Given the description of an element on the screen output the (x, y) to click on. 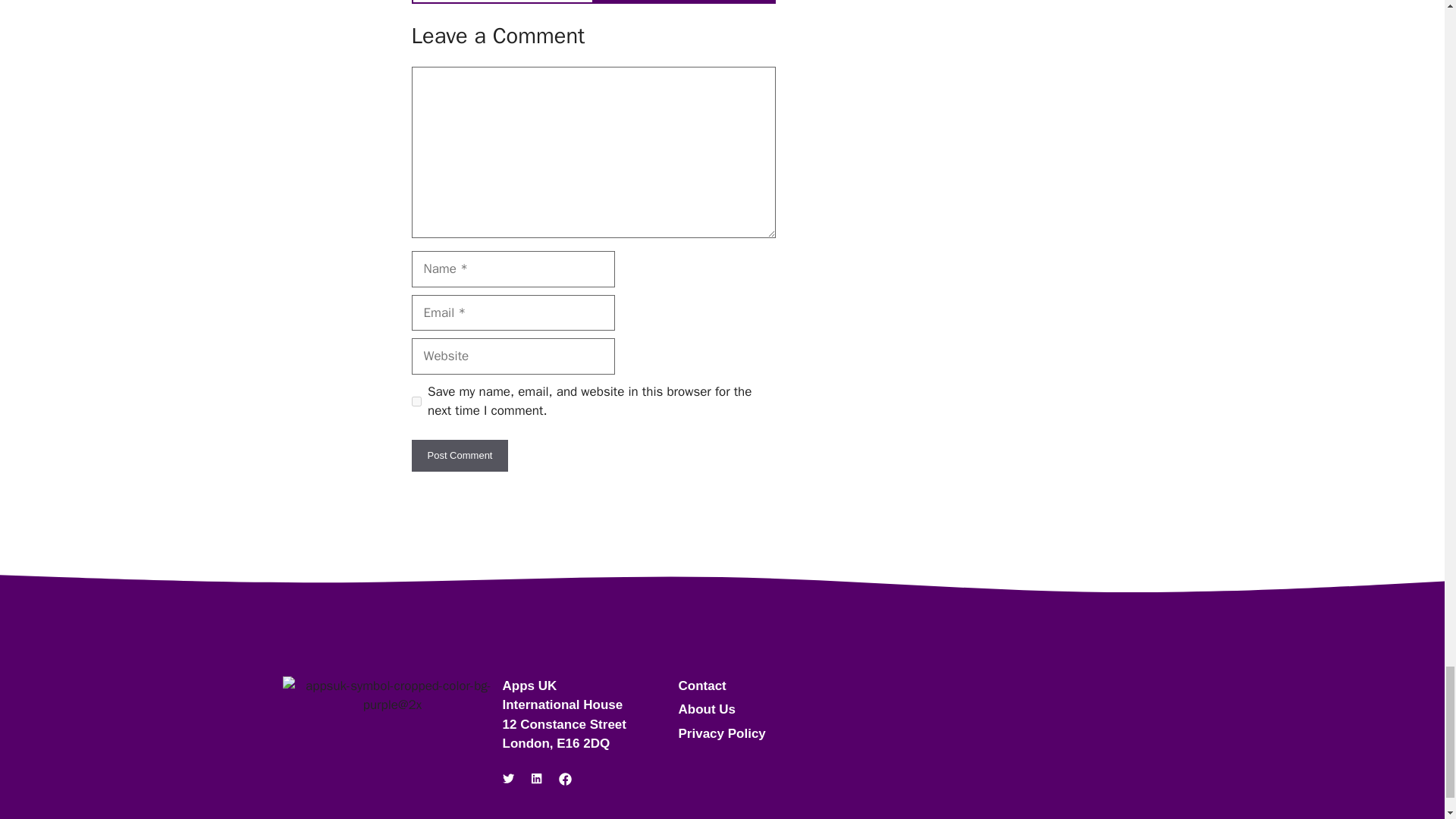
yes (415, 401)
Post Comment (459, 455)
Post Comment (459, 455)
